Given the description of an element on the screen output the (x, y) to click on. 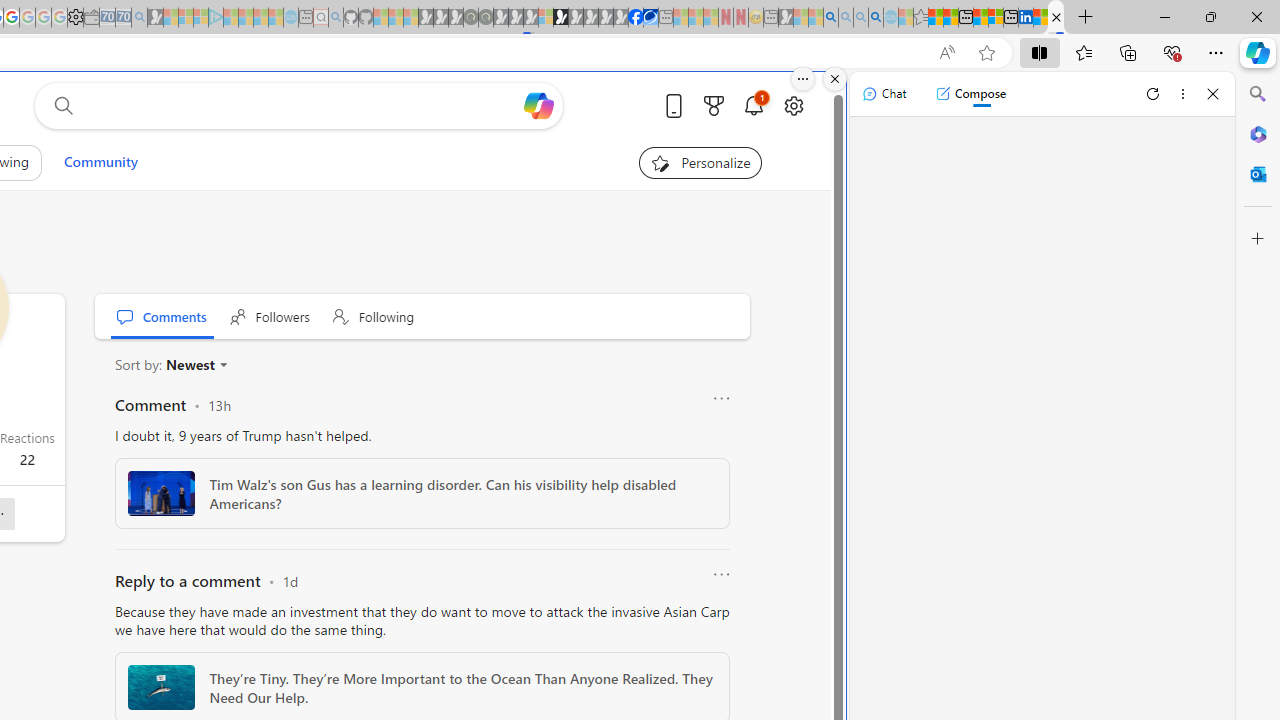
 Following (374, 316)
Content thumbnail (160, 687)
